Given the description of an element on the screen output the (x, y) to click on. 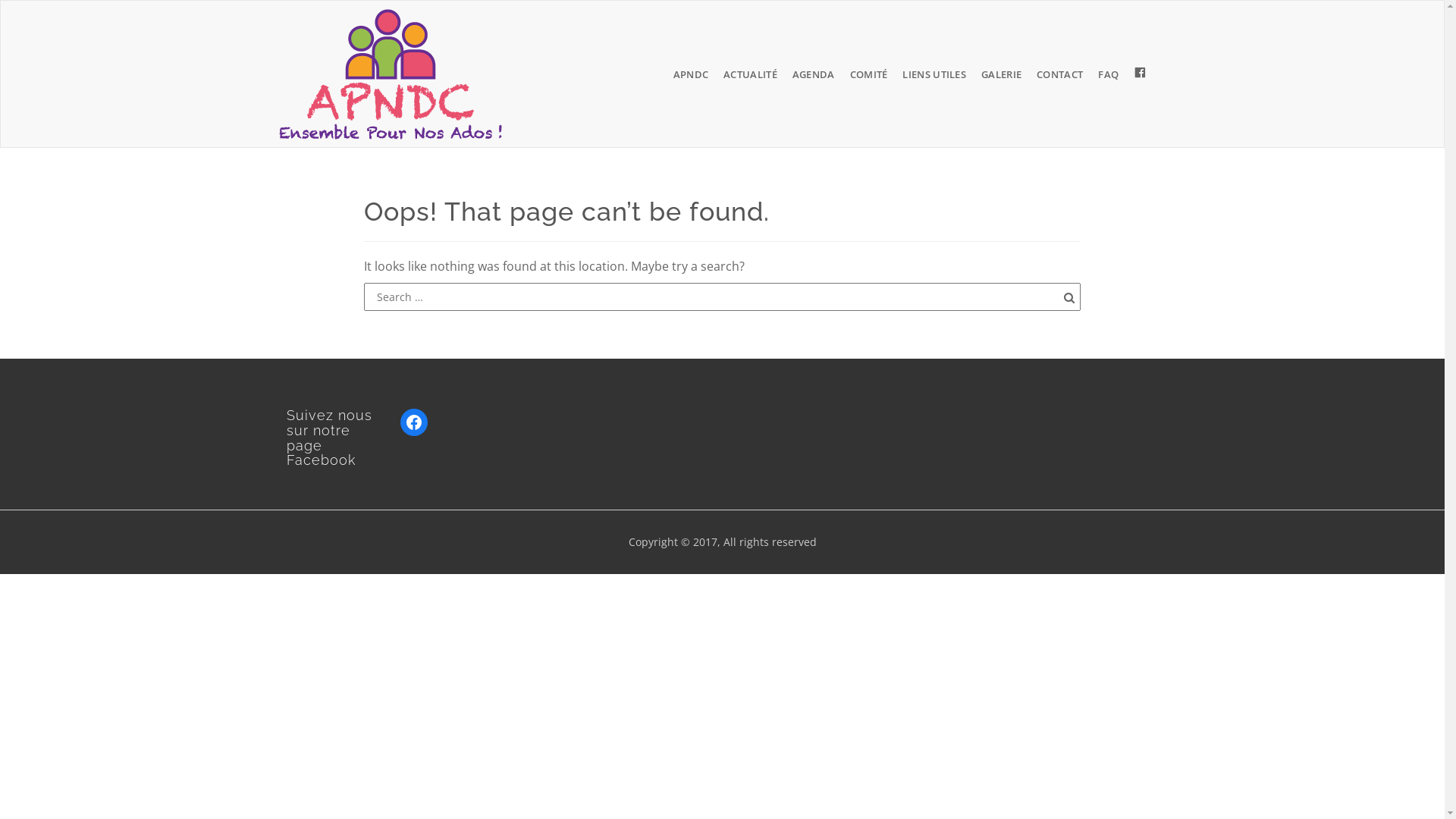
FAQ Element type: text (1108, 74)
PAGE FACEBOOK APNDC Element type: text (1139, 74)
APNDC Element type: text (691, 74)
AGENDA Element type: text (813, 74)
Facebook Element type: text (413, 422)
GALERIE Element type: text (1001, 74)
LIENS UTILES Element type: text (934, 74)
CONTACT Element type: text (1059, 74)
